Given the description of an element on the screen output the (x, y) to click on. 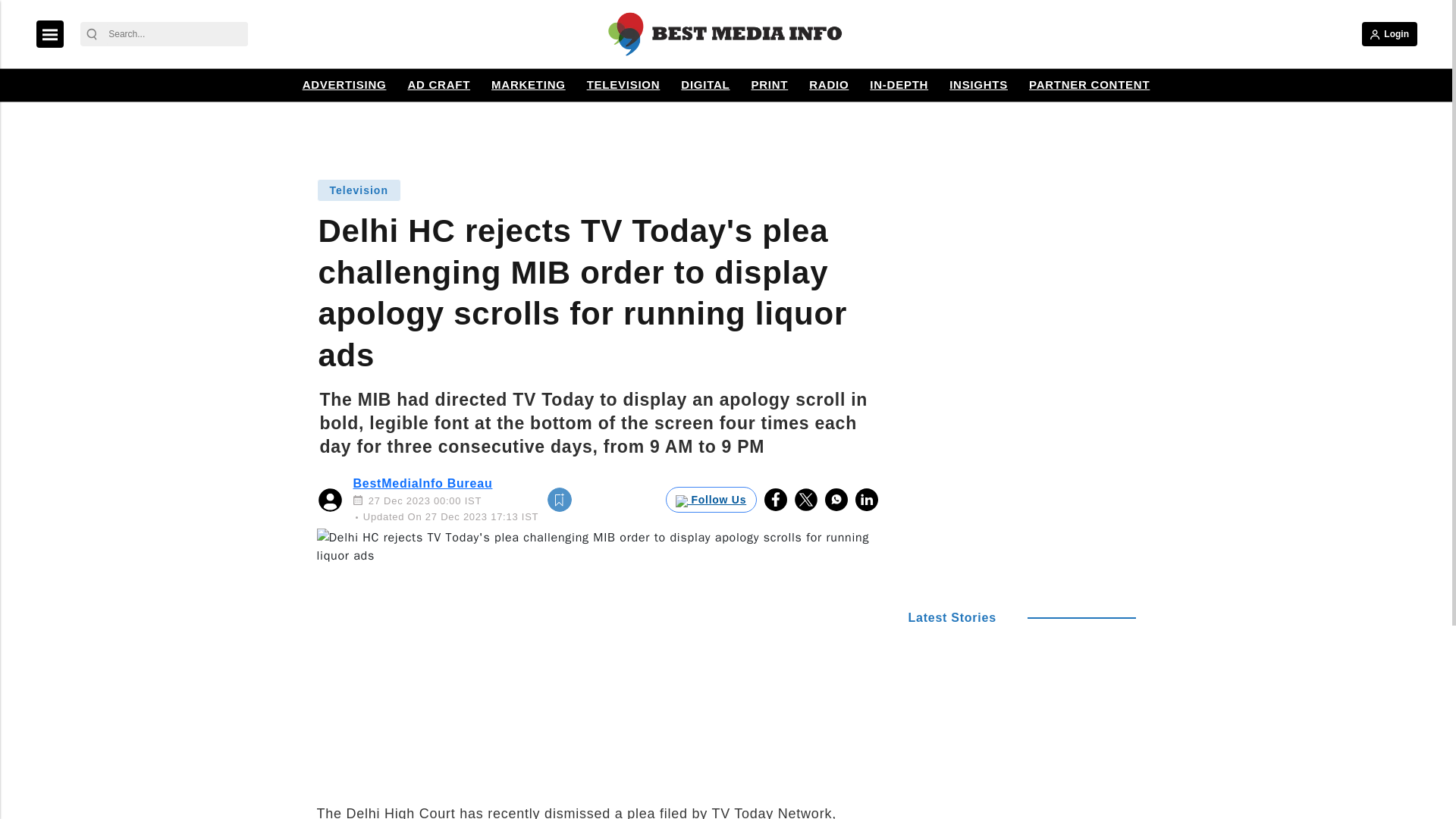
Login (1388, 33)
BestMediaInfo Bureau (423, 482)
PRINT (769, 84)
INSIGHTS (978, 84)
ADVERTISING (344, 84)
Follow Us (711, 499)
DIGITAL (705, 84)
RADIO (828, 84)
IN-DEPTH (898, 84)
PARTNER CONTENT (1088, 84)
